Given the description of an element on the screen output the (x, y) to click on. 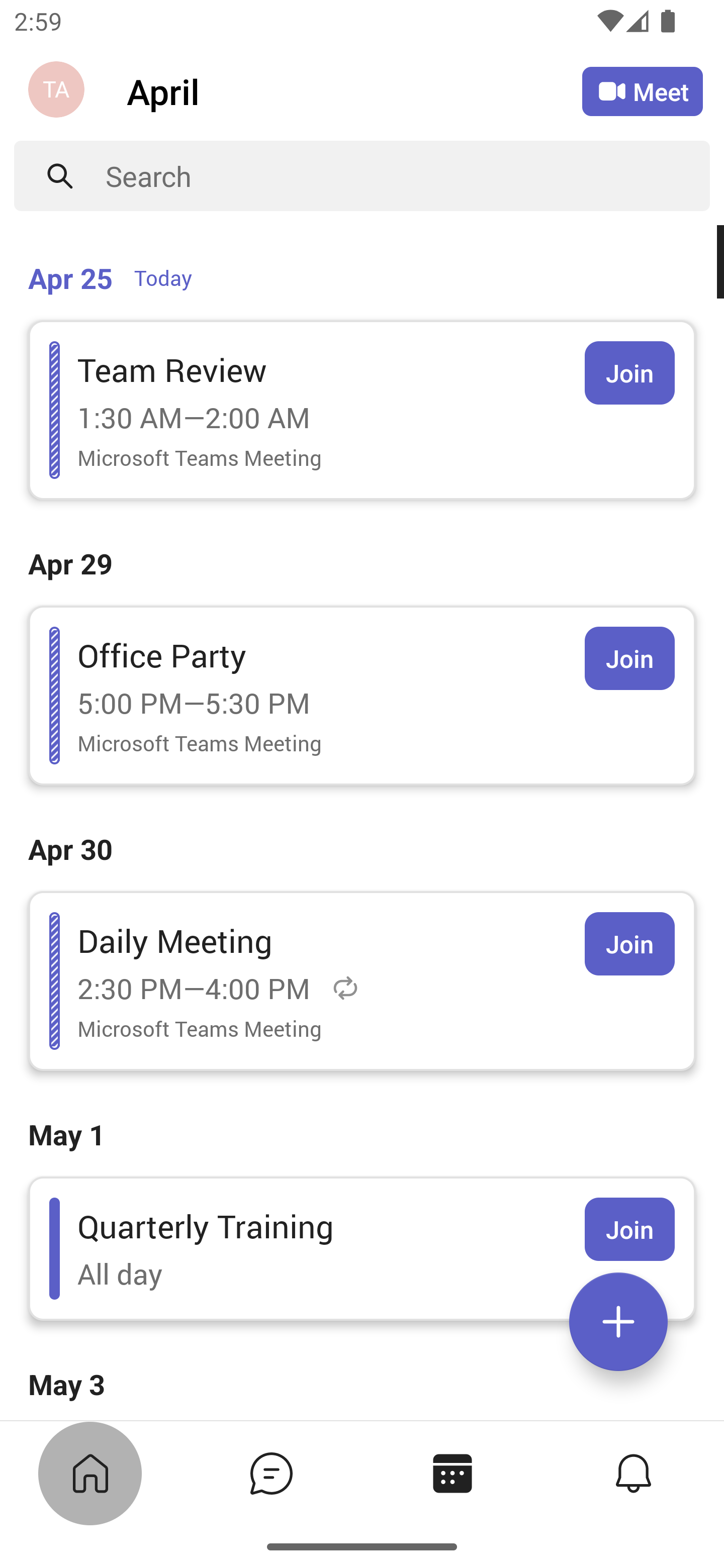
Navigation (58, 91)
Meet Meet now or join with an ID (642, 91)
April April Calendar Agenda View (354, 90)
Search (407, 176)
Join (629, 372)
Join (629, 658)
Join (629, 943)
Join (629, 1228)
Expand meetings menu (618, 1321)
Home tab,1 of 4, not selected (89, 1472)
Chat tab,2 of 4, not selected (270, 1472)
Calendar tab, 3 of 4 (451, 1472)
Activity tab,4 of 4, not selected (632, 1472)
